Given the description of an element on the screen output the (x, y) to click on. 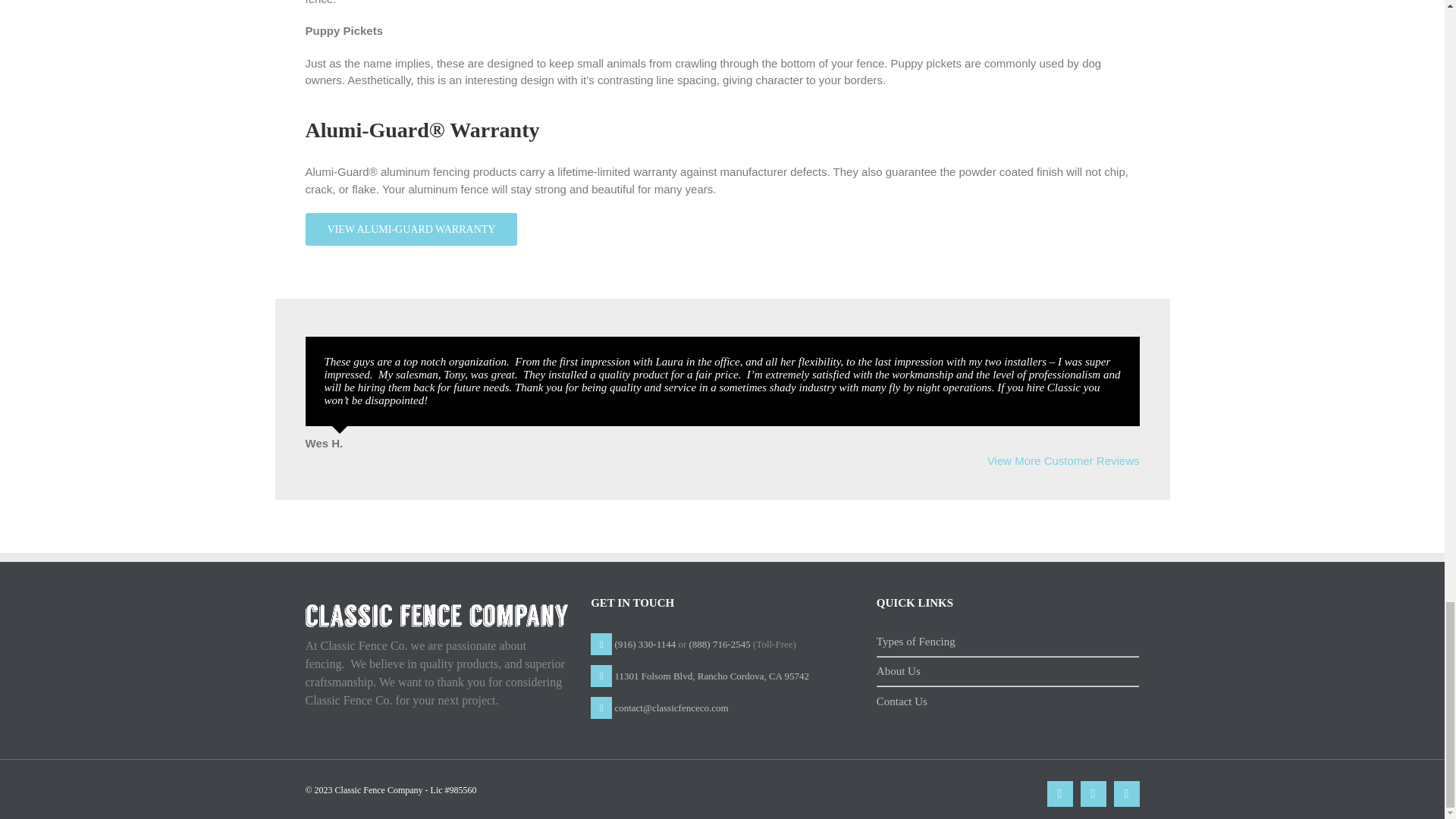
Facebook (1058, 793)
Email (1125, 793)
Instagram (1092, 793)
